Given the description of an element on the screen output the (x, y) to click on. 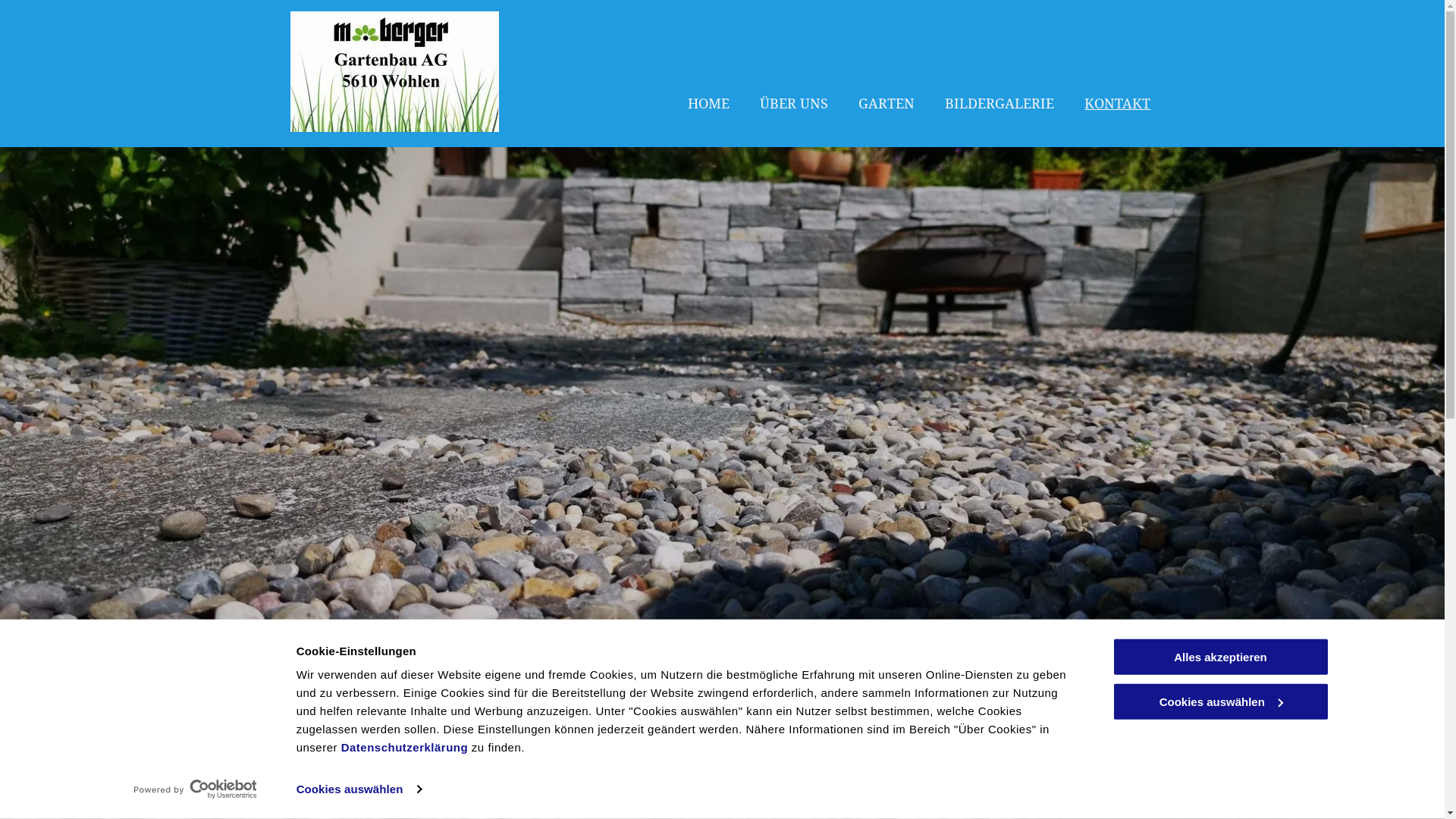
BILDERGALERIE Element type: text (999, 73)
KONTAKT Element type: text (1117, 73)
Alles akzeptieren Element type: text (1219, 656)
GARTEN Element type: text (886, 73)
HOME Element type: text (708, 73)
